Given the description of an element on the screen output the (x, y) to click on. 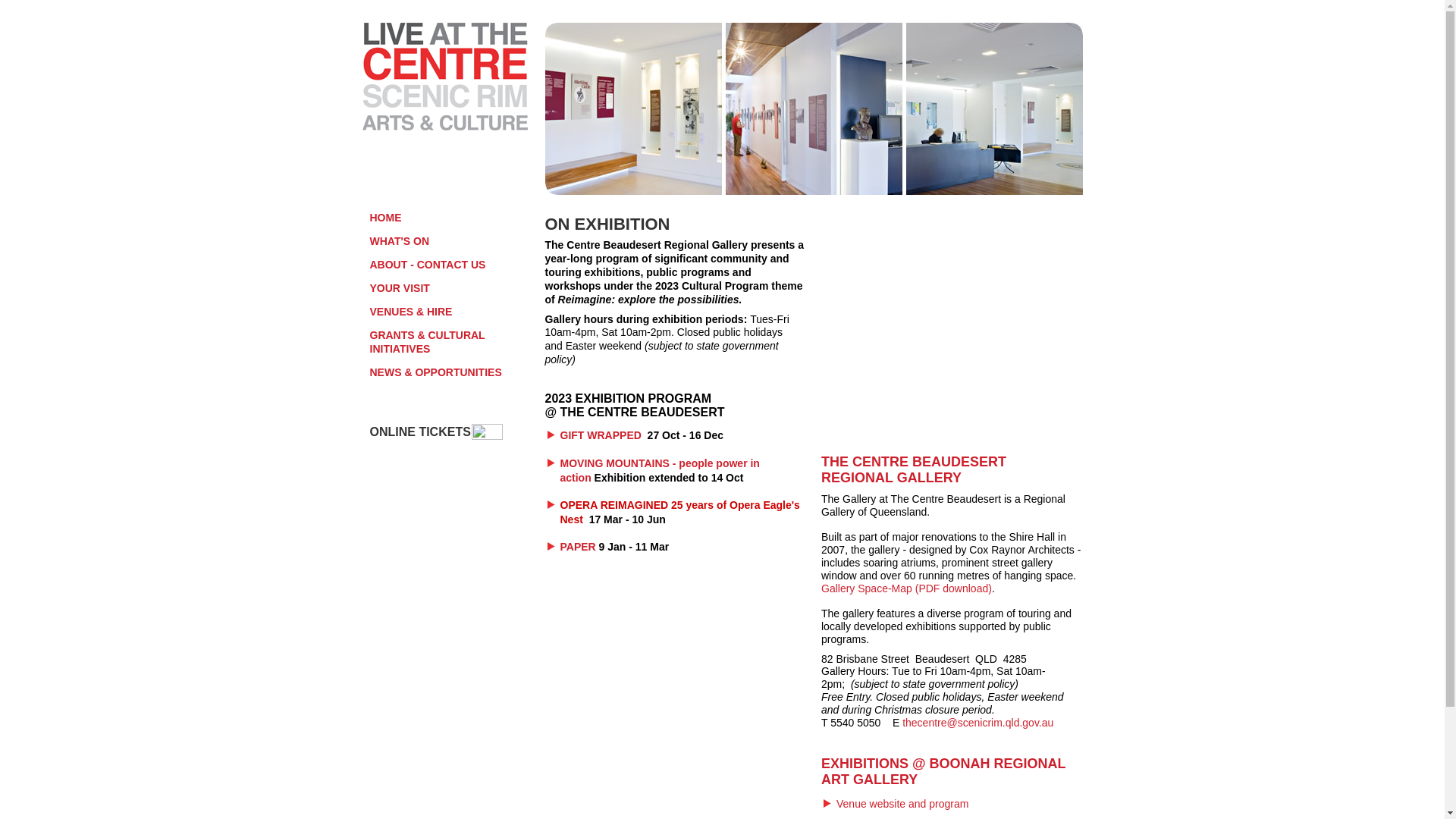
WHAT'S ON Element type: text (451, 240)
MOVING MOUNTAINS - people power in action Element type: text (659, 470)
HOME Element type: text (451, 217)
VENUES & HIRE Element type: text (451, 311)
GRANTS & CULTURAL INITIATIVES Element type: text (451, 341)
PAPER Element type: text (577, 546)
Venue website and program Element type: text (902, 803)
NEWS & OPPORTUNITIES Element type: text (451, 372)
OPERA REIMAGINED 25 years of Opera Eagle's Nest Element type: text (679, 511)
YOUR VISIT Element type: text (451, 287)
ABOUT - CONTACT US Element type: text (451, 264)
Gallery Space-Map (PDF download) Element type: text (906, 588)
GIFT WRAPPED Element type: text (599, 435)
thecentre@scenicrim.qld.gov.au Element type: text (977, 722)
